Given the description of an element on the screen output the (x, y) to click on. 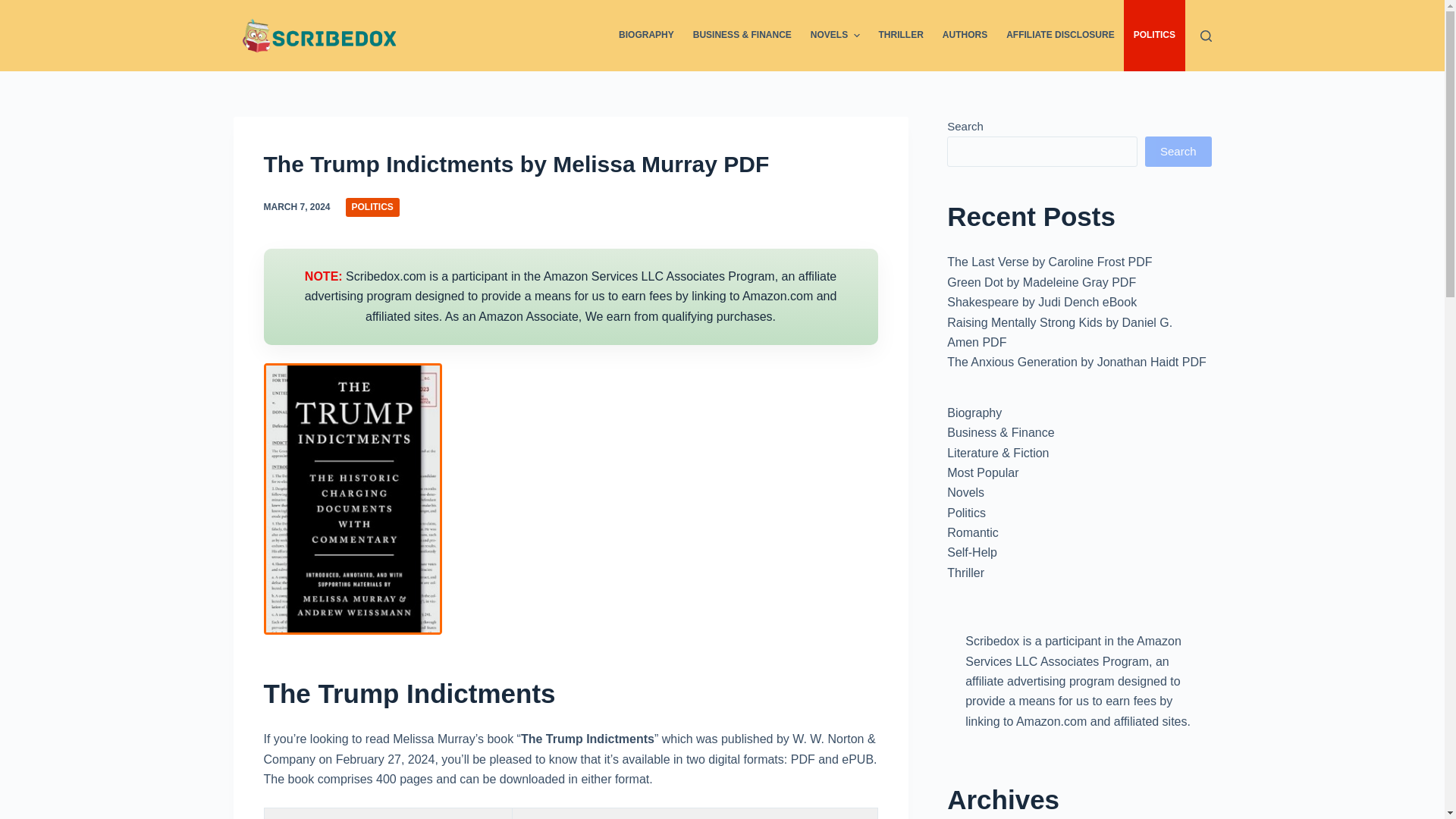
NOVELS (834, 35)
POLITICS (372, 207)
BIOGRAPHY (647, 35)
Skip to content (15, 7)
AFFILIATE DISCLOSURE (1060, 35)
The Trump Indictments by Melissa Murray PDF (570, 163)
AUTHORS (964, 35)
THRILLER (901, 35)
